Given the description of an element on the screen output the (x, y) to click on. 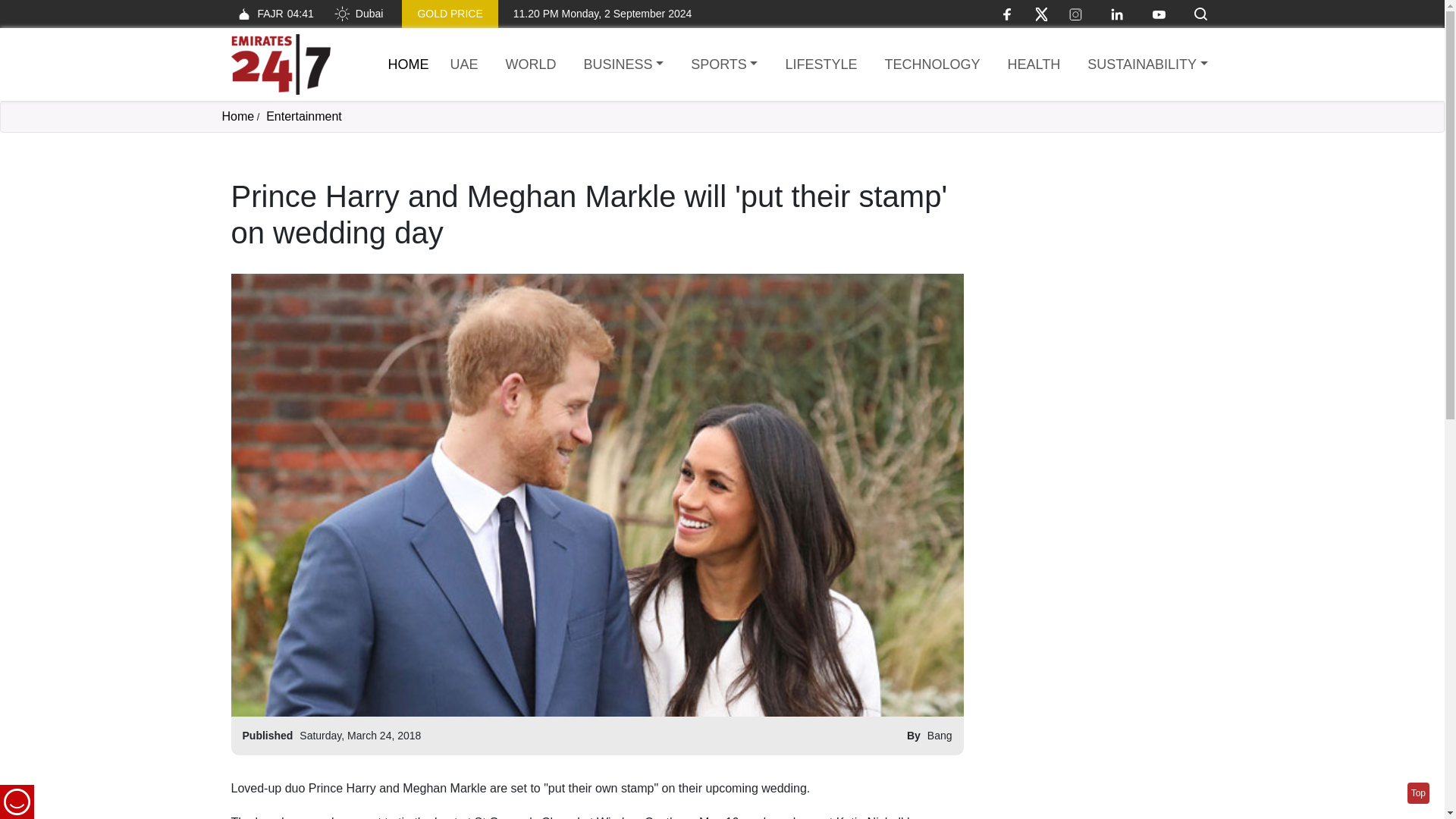
BUSINESS (623, 64)
Home (408, 63)
WORLD (530, 64)
HOME (408, 63)
Entertainment (304, 115)
Go to top (1418, 792)
Home (280, 64)
TECHNOLOGY (931, 64)
HEALTH (1034, 64)
LIFESTYLE (820, 64)
